Given the description of an element on the screen output the (x, y) to click on. 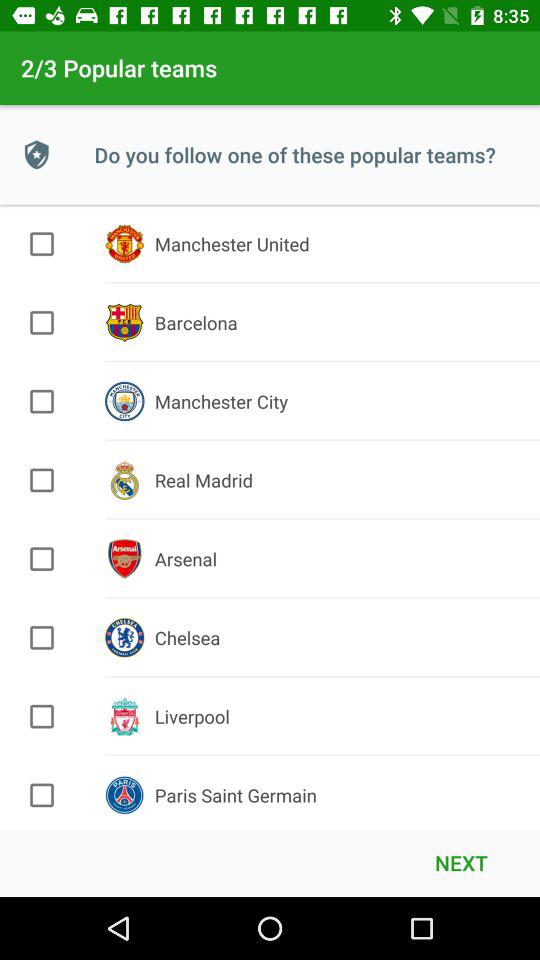
open the icon to the right of paris saint germain (461, 862)
